Given the description of an element on the screen output the (x, y) to click on. 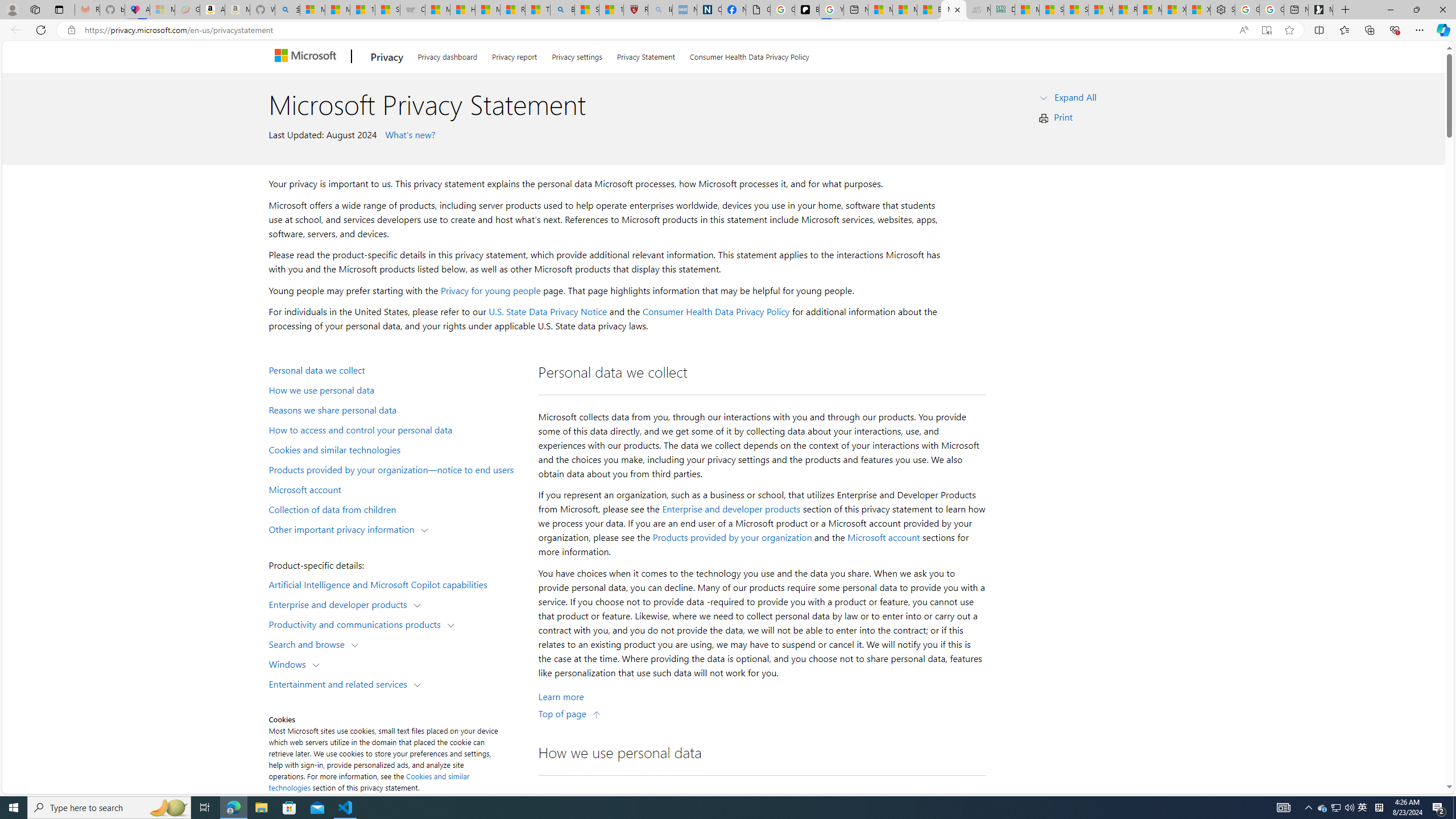
How to access and control your personal data (395, 428)
Enterprise and developer products (731, 508)
Privacy report (514, 54)
Consumer Health Data Privacy Policy (716, 311)
Be Smart | creating Science videos | Patreon (807, 9)
Microsoft account (395, 488)
